Given the description of an element on the screen output the (x, y) to click on. 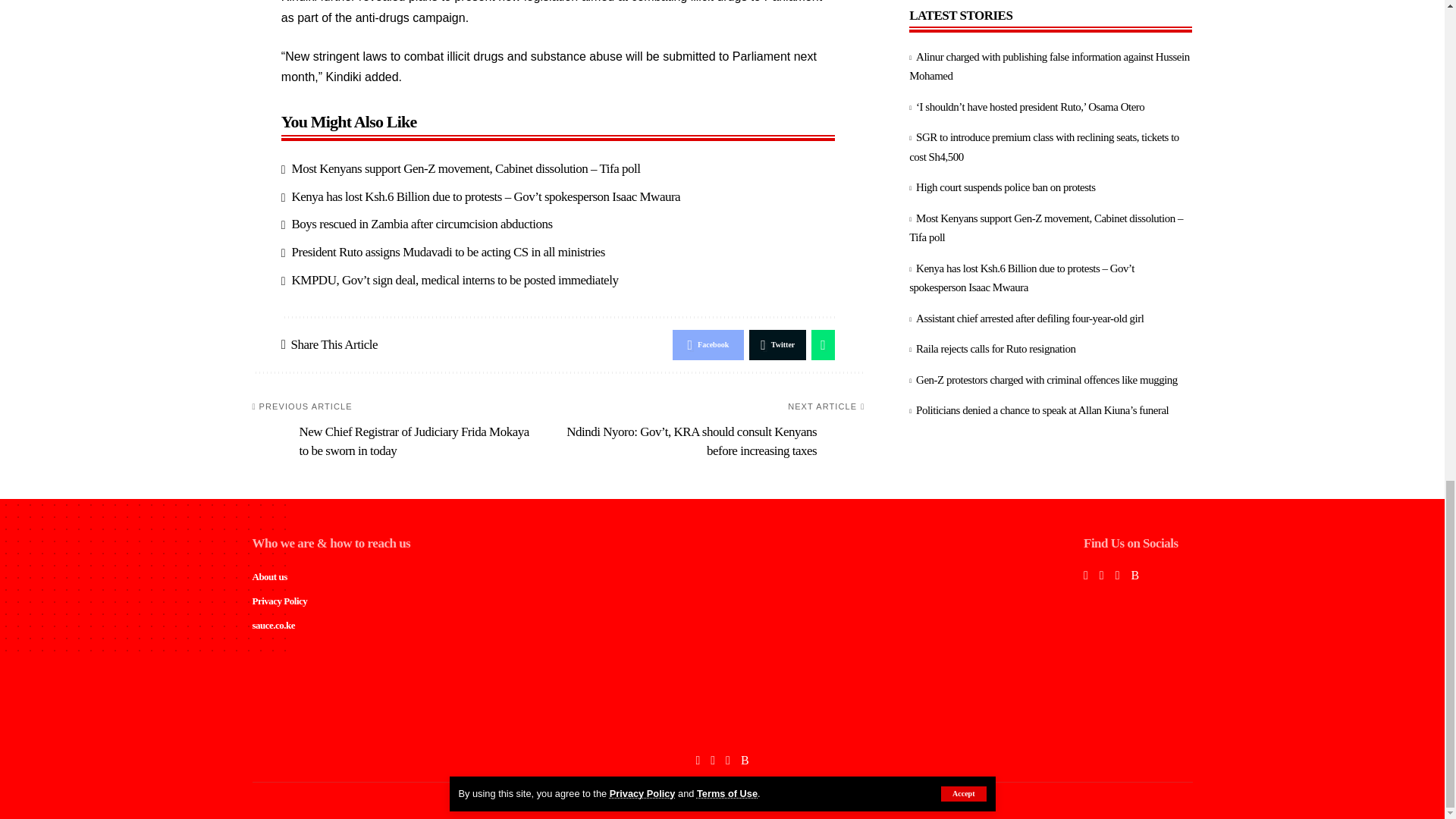
sauce.co.ke (721, 723)
